Given the description of an element on the screen output the (x, y) to click on. 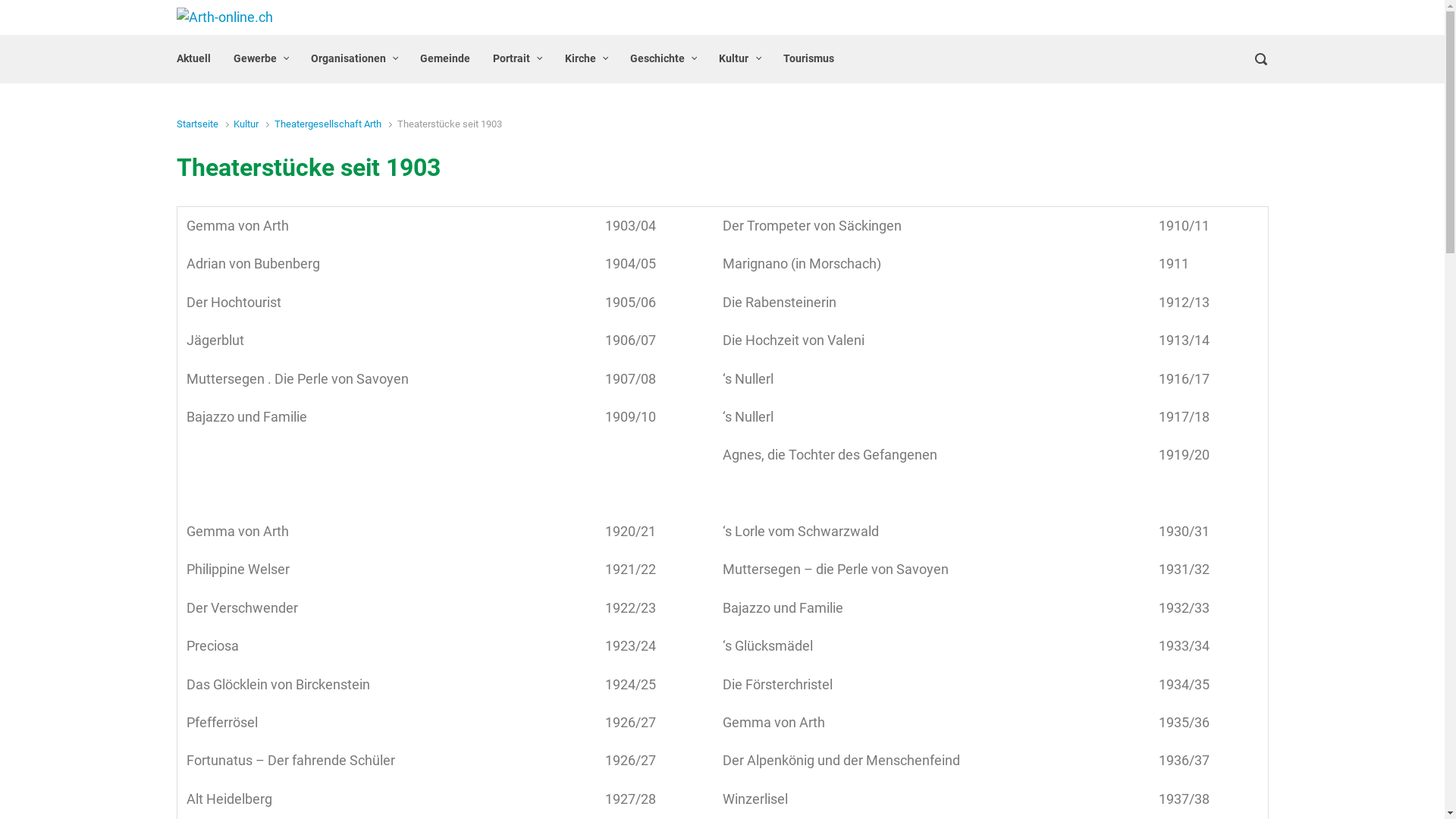
Kirche Element type: text (585, 58)
Geschichte Element type: text (663, 58)
Kultur Element type: text (738, 58)
Aktuell Element type: text (192, 58)
Gemeinde Element type: text (445, 58)
Gewerbe Element type: text (260, 58)
Theatergesellschaft Arth Element type: text (327, 123)
Tourismus Element type: text (808, 58)
Organisationen Element type: text (353, 58)
Kultur Element type: text (245, 123)
Portrait Element type: text (516, 58)
Startseite Element type: text (196, 123)
